Given the description of an element on the screen output the (x, y) to click on. 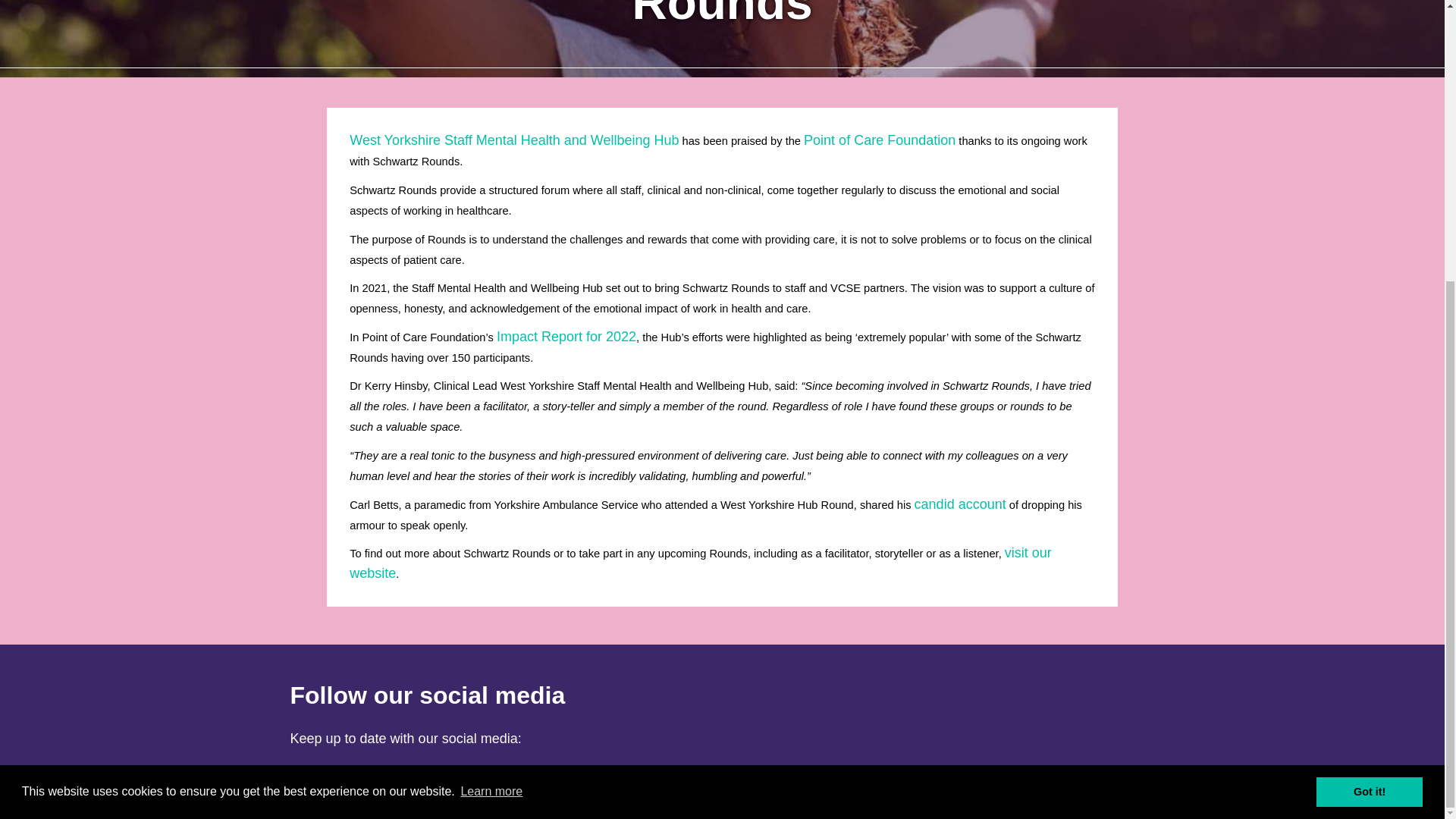
Got it! (1369, 371)
Learn more (491, 371)
